Given the description of an element on the screen output the (x, y) to click on. 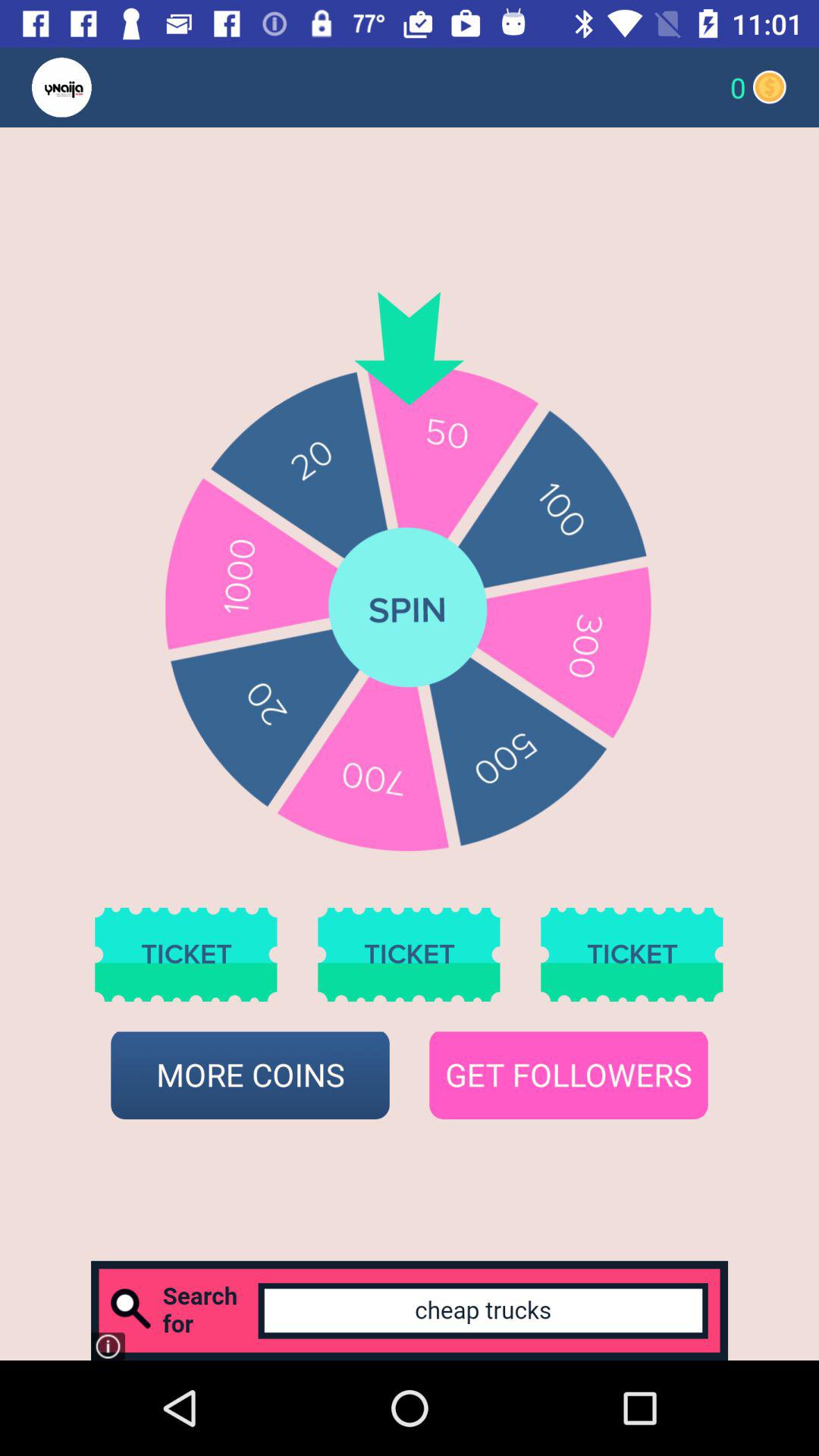
turn on icon next to the get followers (249, 1075)
